Given the description of an element on the screen output the (x, y) to click on. 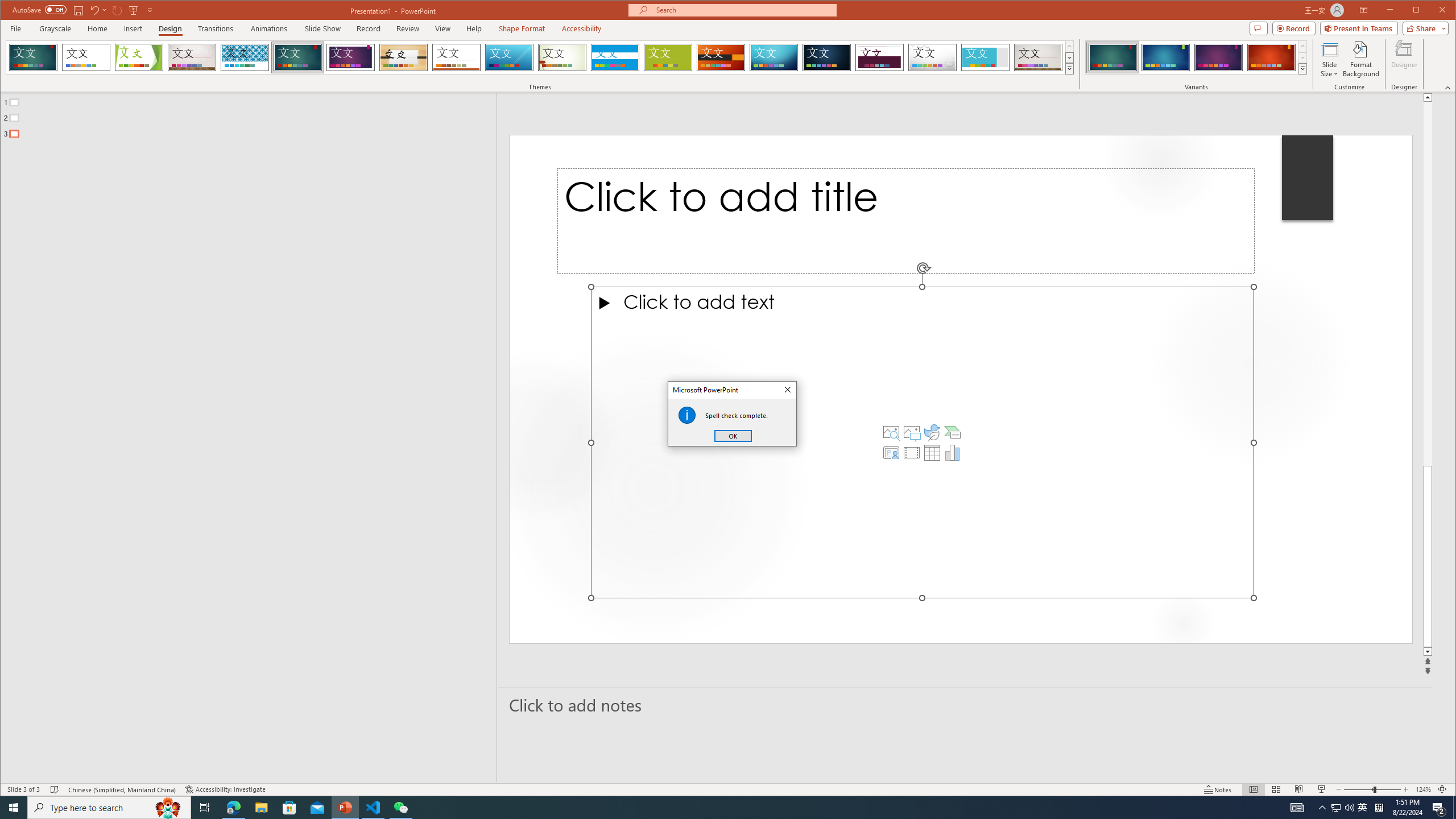
Grayscale (55, 28)
Themes (1069, 68)
Facet (138, 57)
Slide Size (1328, 59)
AutomationID: ThemeVariantsGallery (1196, 57)
Format Background (1360, 59)
